Given the description of an element on the screen output the (x, y) to click on. 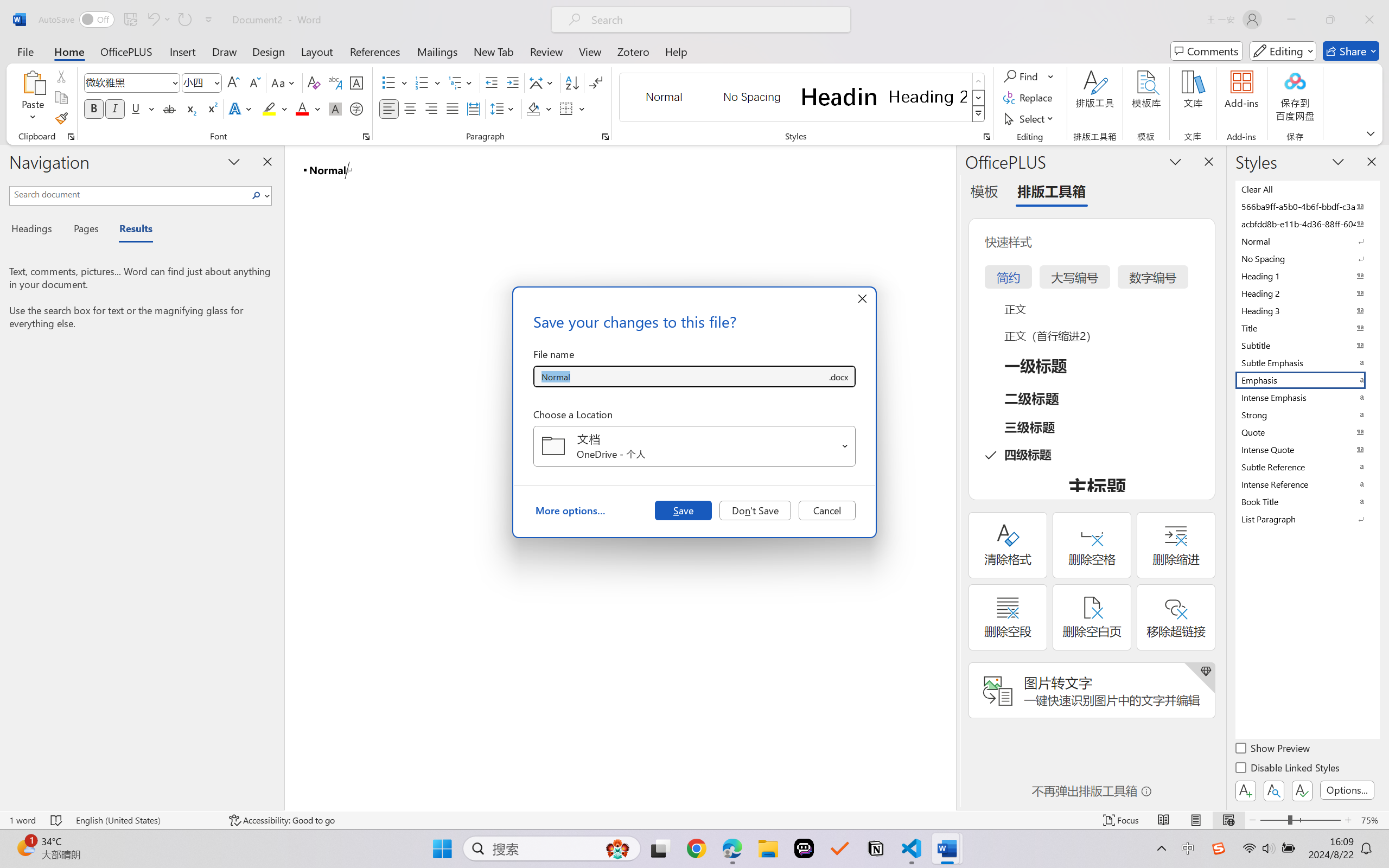
Can't Repeat (184, 19)
Text Highlight Color Yellow (269, 108)
Read Mode (1163, 819)
Clear All (1306, 188)
Enclose Characters... (356, 108)
Center (409, 108)
Print Layout (1196, 819)
Heading 3 (1306, 310)
Heading 2 (927, 96)
Cut (60, 75)
